Given the description of an element on the screen output the (x, y) to click on. 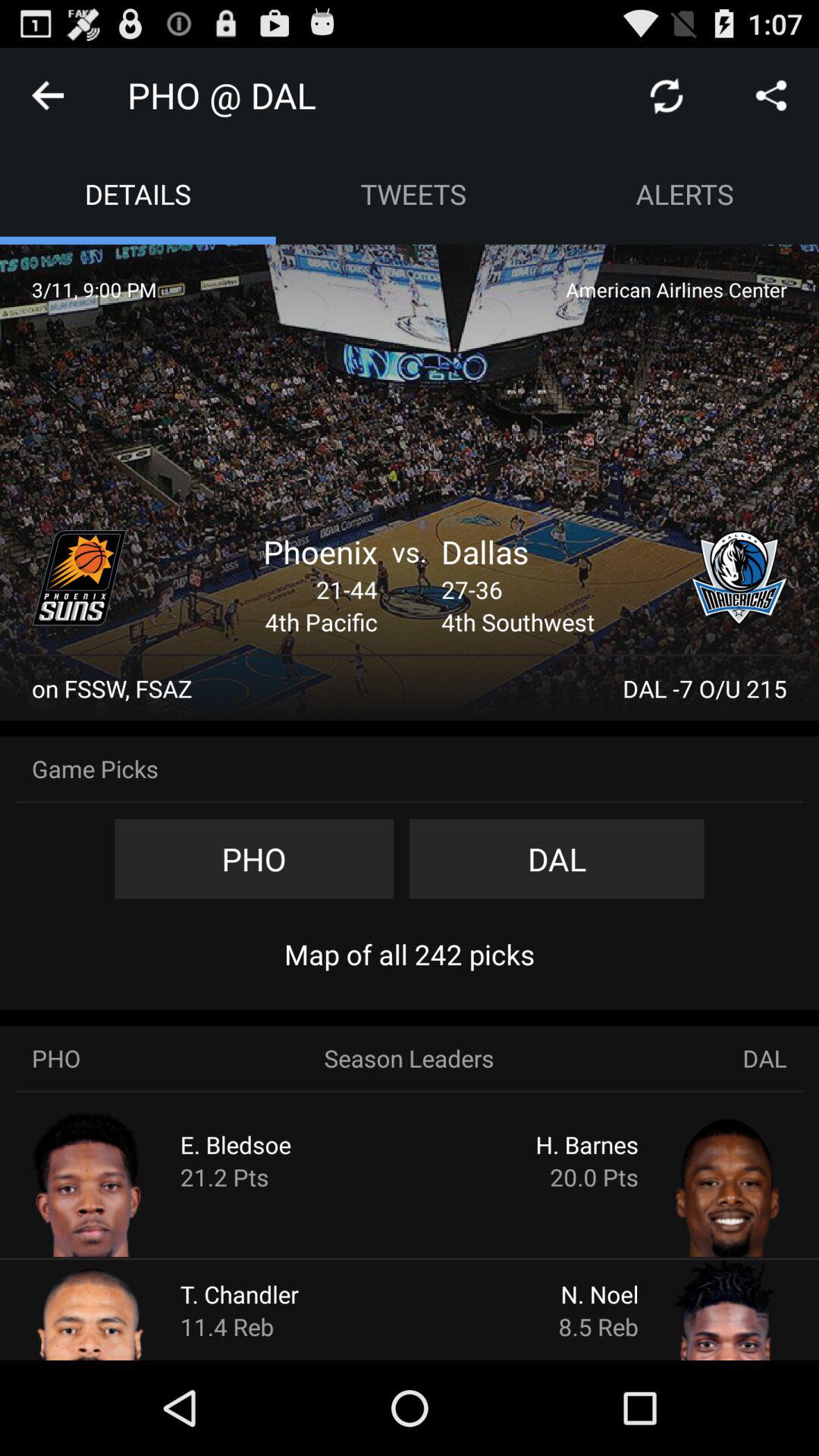
player record (119, 1183)
